Given the description of an element on the screen output the (x, y) to click on. 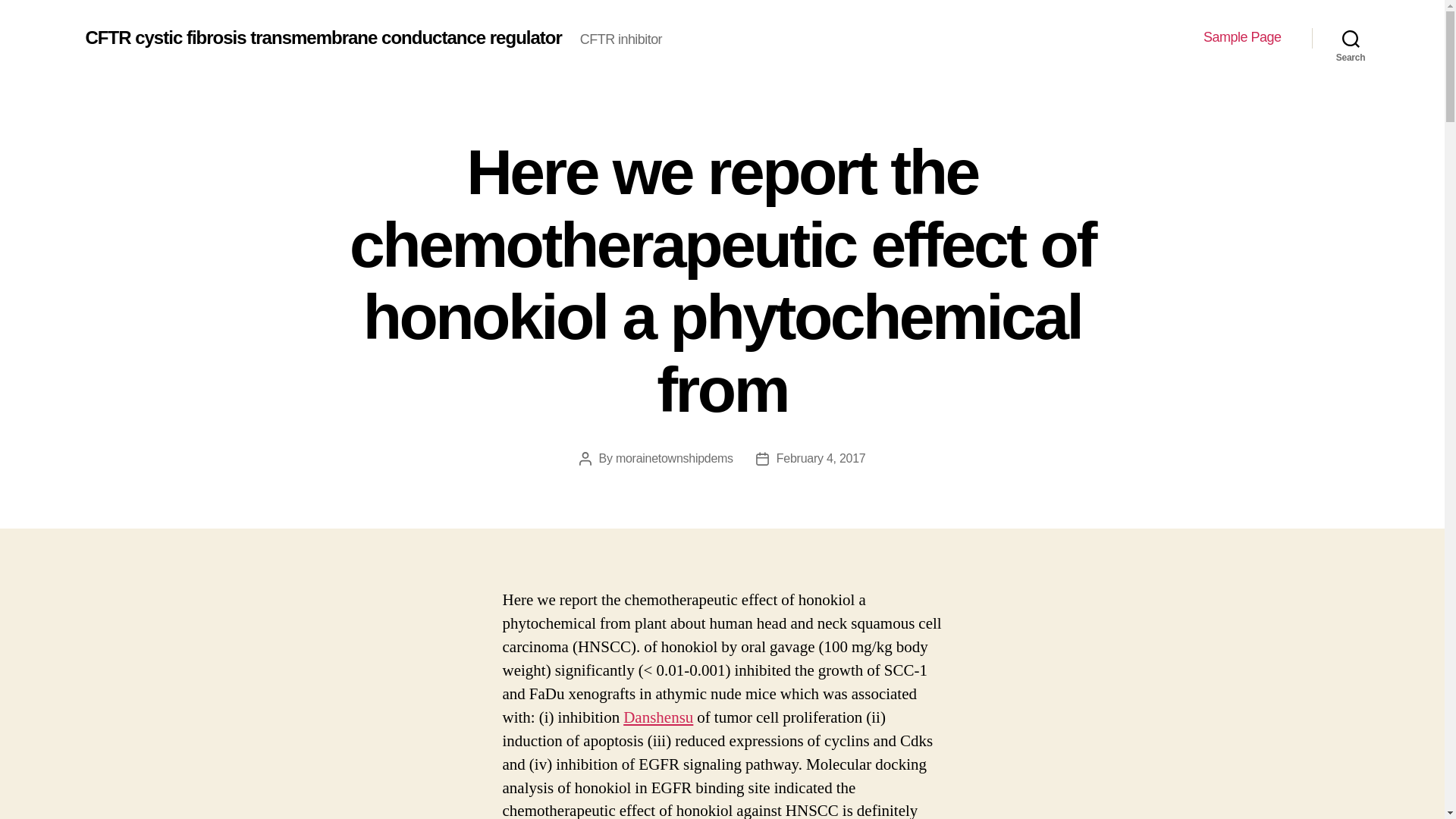
Danshensu (658, 717)
CFTR cystic fibrosis transmembrane conductance regulator (322, 37)
morainetownshipdems (674, 458)
Search (1350, 37)
February 4, 2017 (821, 458)
Sample Page (1242, 37)
